Given the description of an element on the screen output the (x, y) to click on. 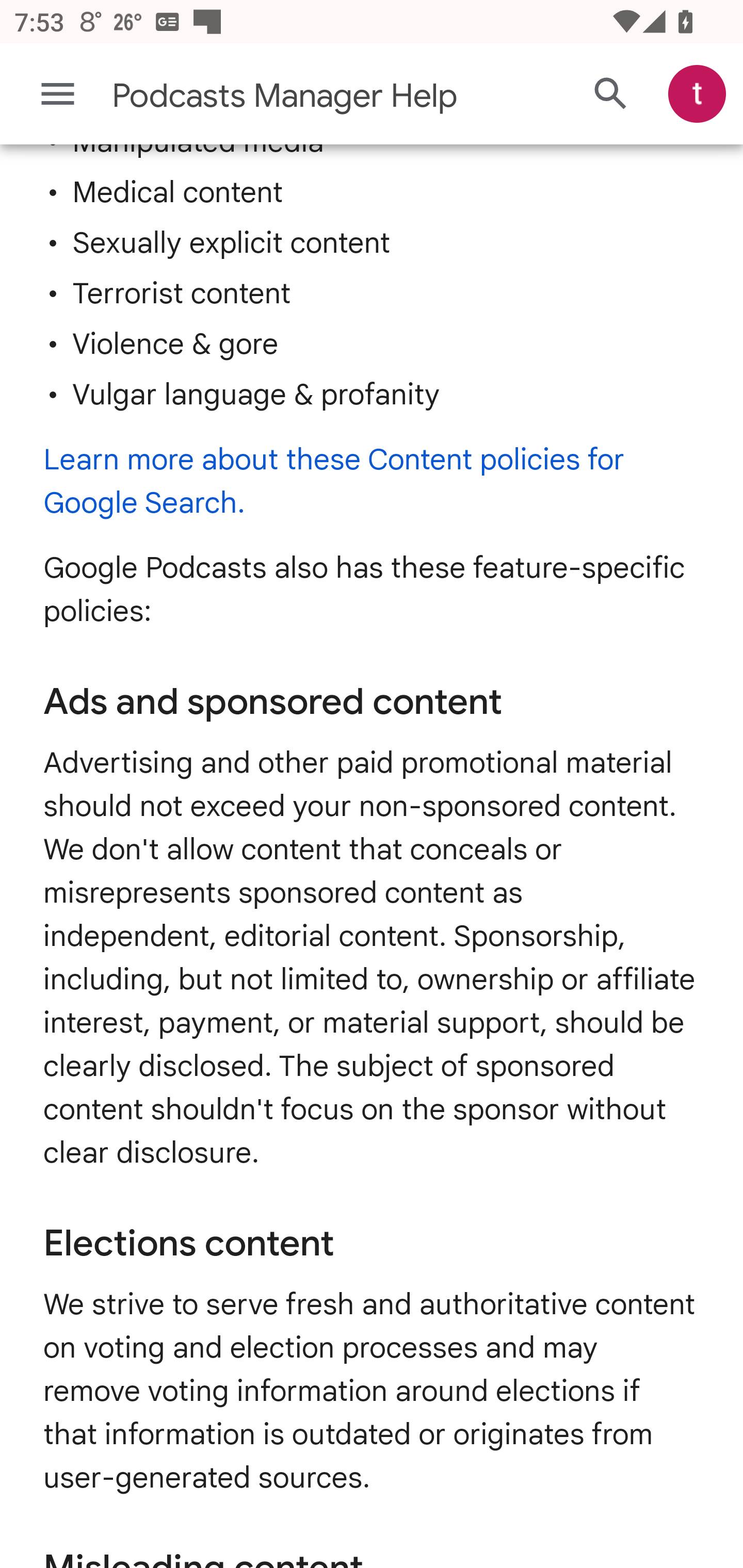
Main menu (58, 93)
Podcasts Manager Help (292, 96)
Search Help Center (611, 94)
